Given the description of an element on the screen output the (x, y) to click on. 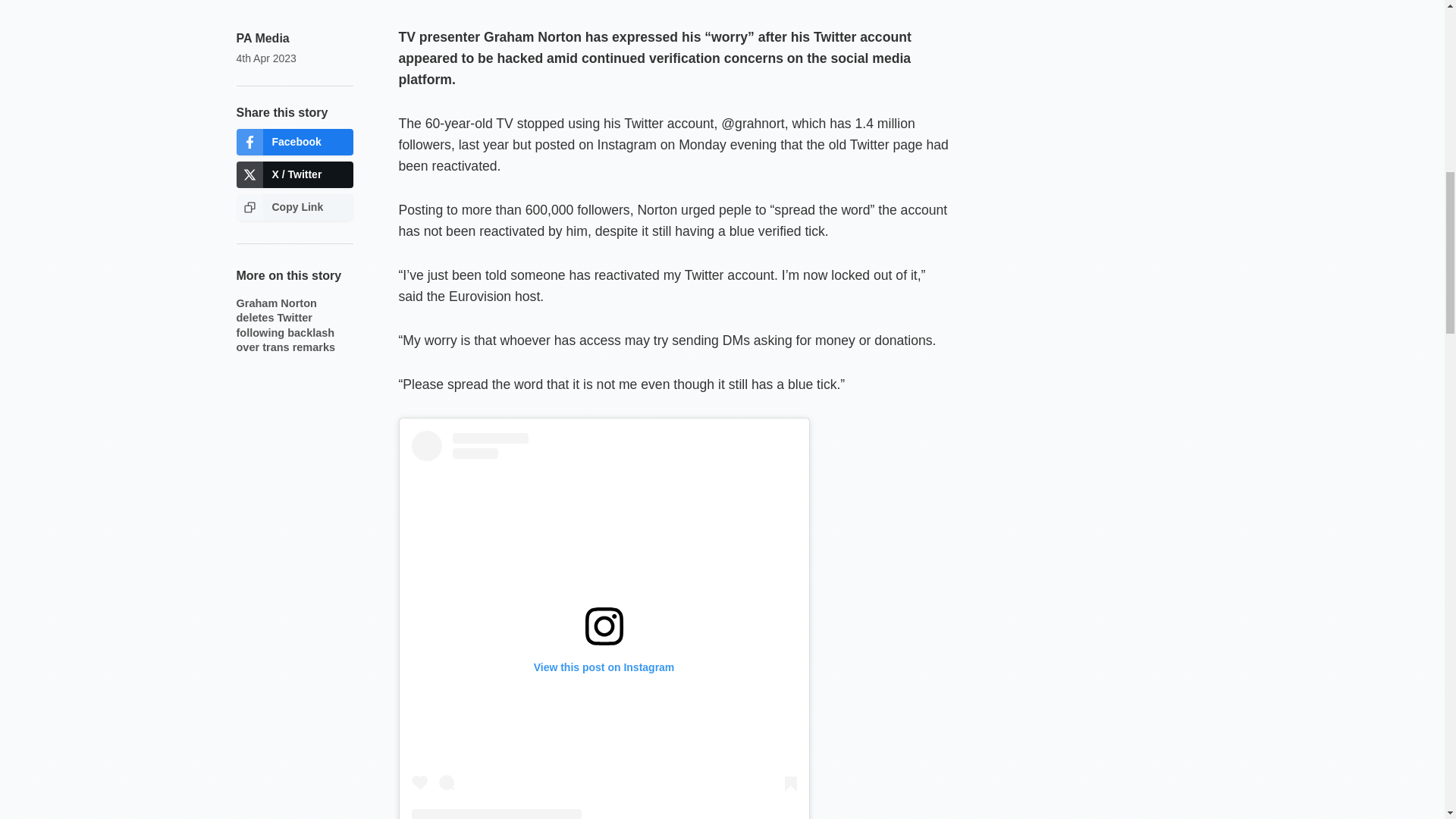
Facebook (294, 141)
